Given the description of an element on the screen output the (x, y) to click on. 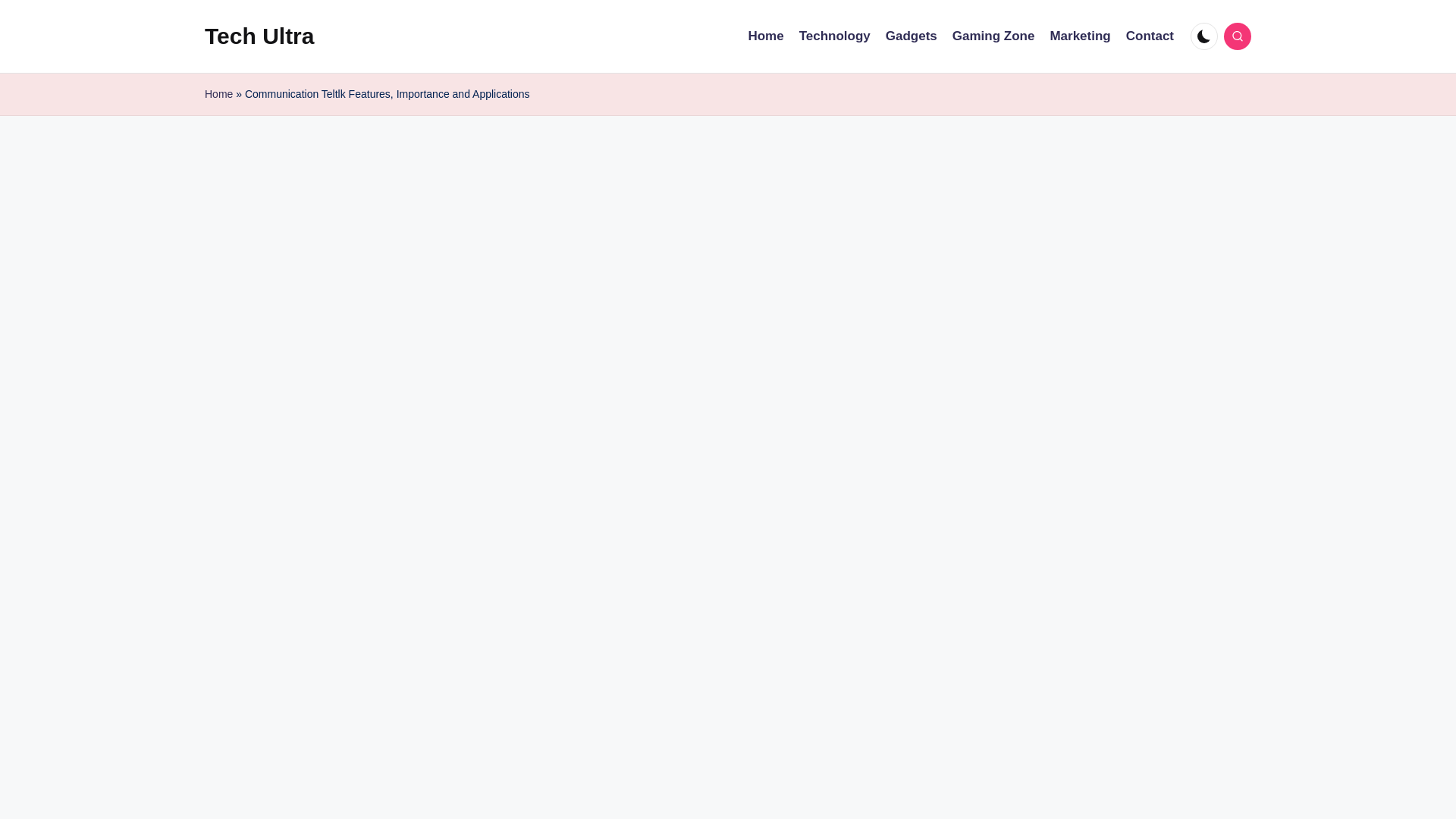
Gaming Zone (993, 36)
Technology (834, 36)
Gadgets (911, 36)
Home (218, 94)
Home (765, 36)
Contact (1149, 36)
Marketing (1079, 36)
Tech Ultra (259, 36)
